Given the description of an element on the screen output the (x, y) to click on. 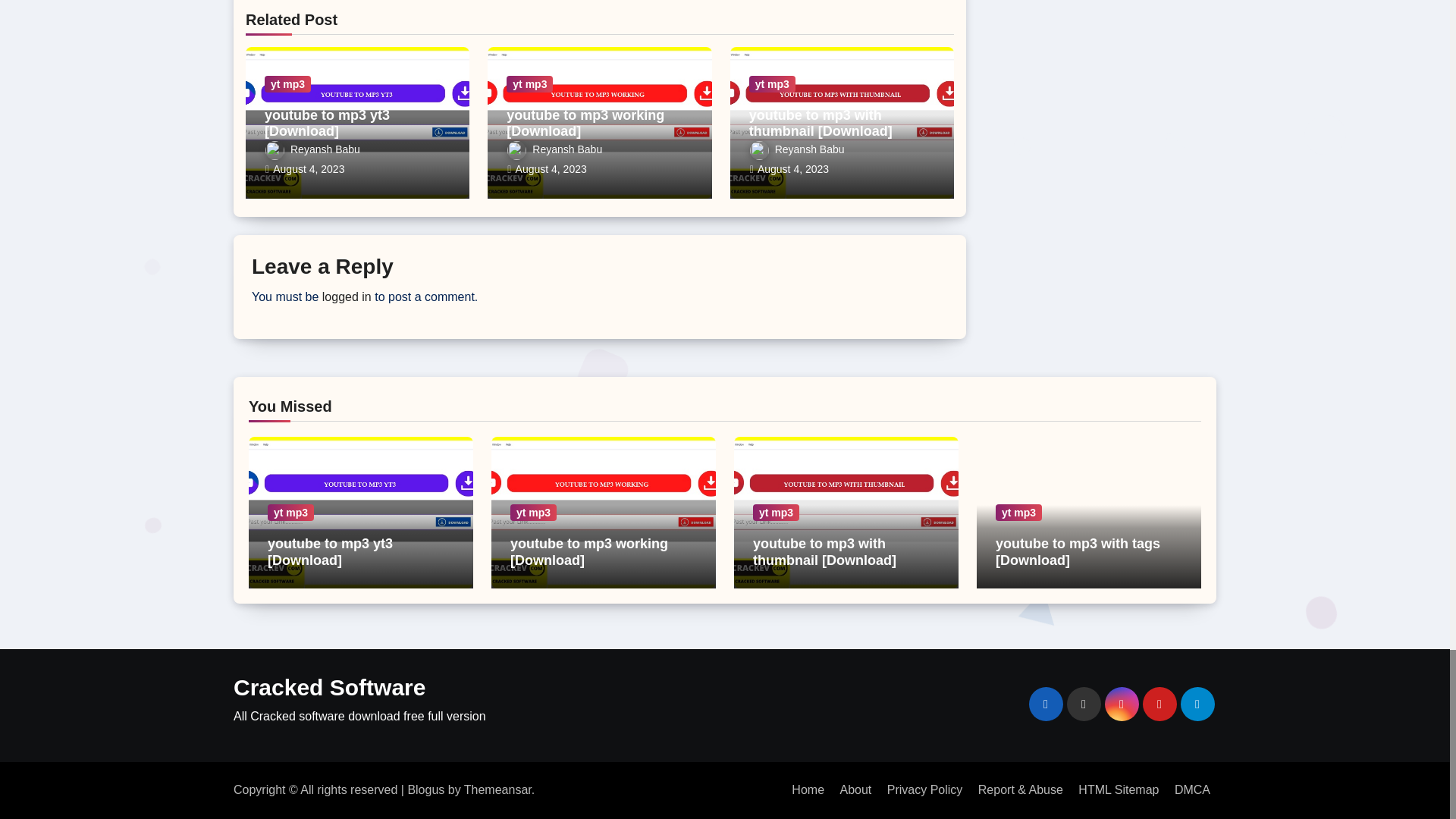
Privacy Policy (924, 789)
About (855, 789)
Home (807, 789)
HTML Sitemap (1117, 789)
